Given the description of an element on the screen output the (x, y) to click on. 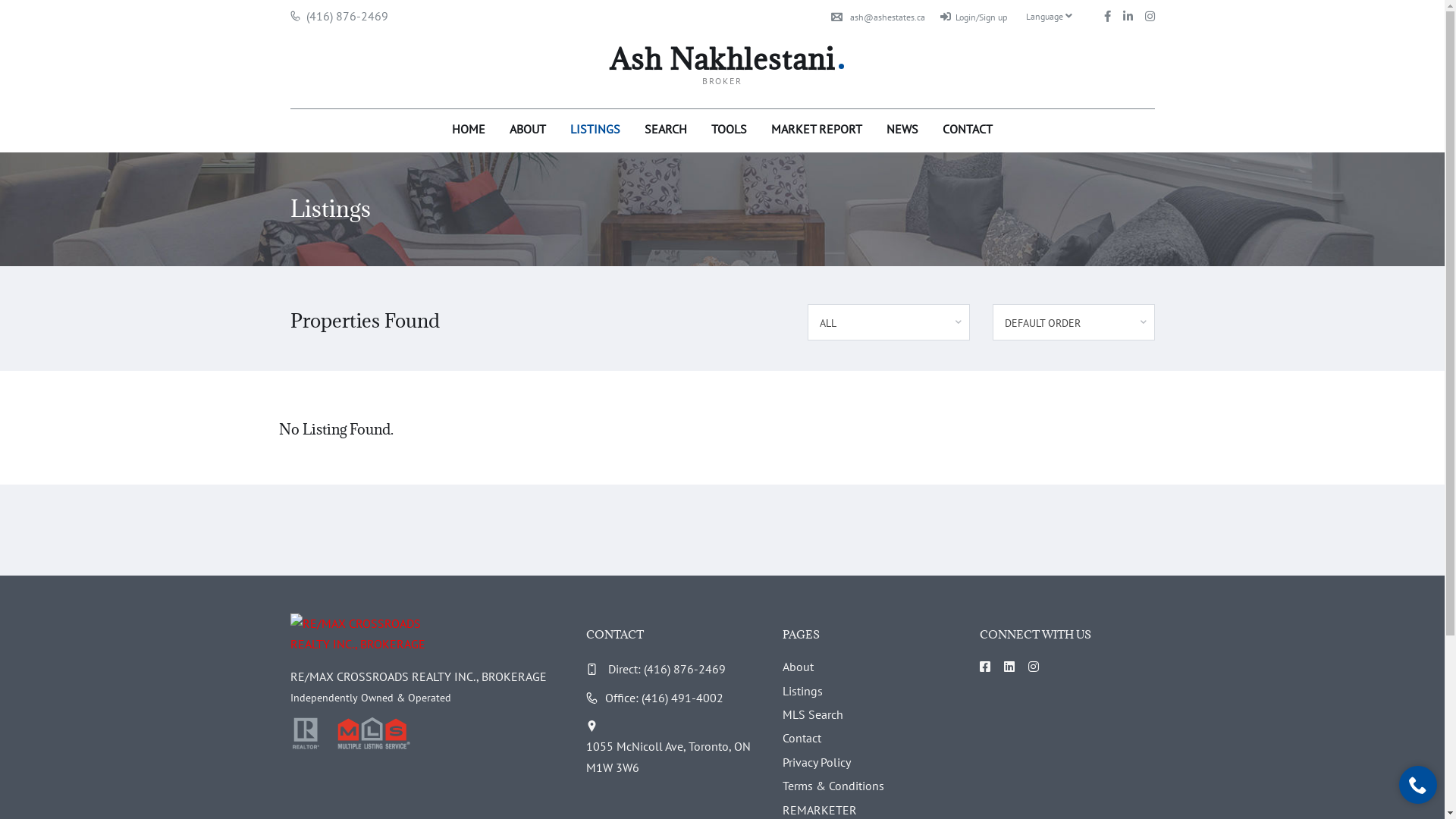
LISTINGS Element type: text (595, 127)
NEWS Element type: text (902, 127)
About Element type: text (797, 666)
MARKET REPORT Element type: text (816, 127)
Language Element type: text (1051, 16)
Terms & Conditions Element type: text (833, 785)
TOOLS Element type: text (729, 127)
REMARKETER Element type: text (819, 809)
Login/Sign up Element type: text (973, 16)
Contact Element type: text (801, 738)
Ash Nakhlestani
BROKER Element type: text (721, 68)
ABOUT Element type: text (527, 127)
Privacy Policy Element type: text (816, 761)
SEARCH Element type: text (665, 127)
Listings Element type: text (802, 690)
HOME Element type: text (468, 127)
ash@ashestates.ca Element type: text (878, 16)
CONTACT Element type: text (967, 127)
MLS Search Element type: text (812, 713)
